Given the description of an element on the screen output the (x, y) to click on. 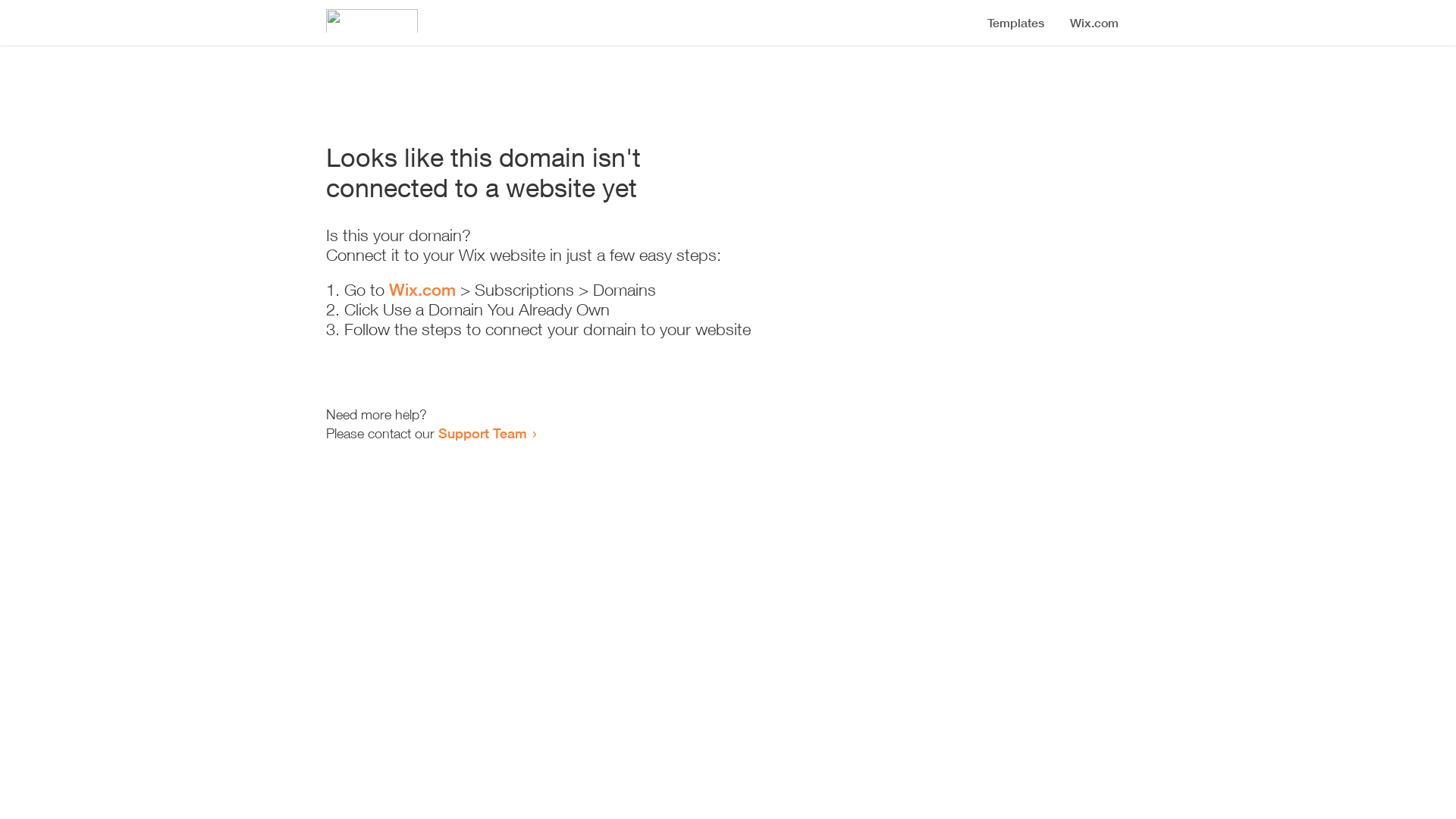
Wix.com Element type: text (422, 289)
Support Team Element type: text (482, 432)
